Given the description of an element on the screen output the (x, y) to click on. 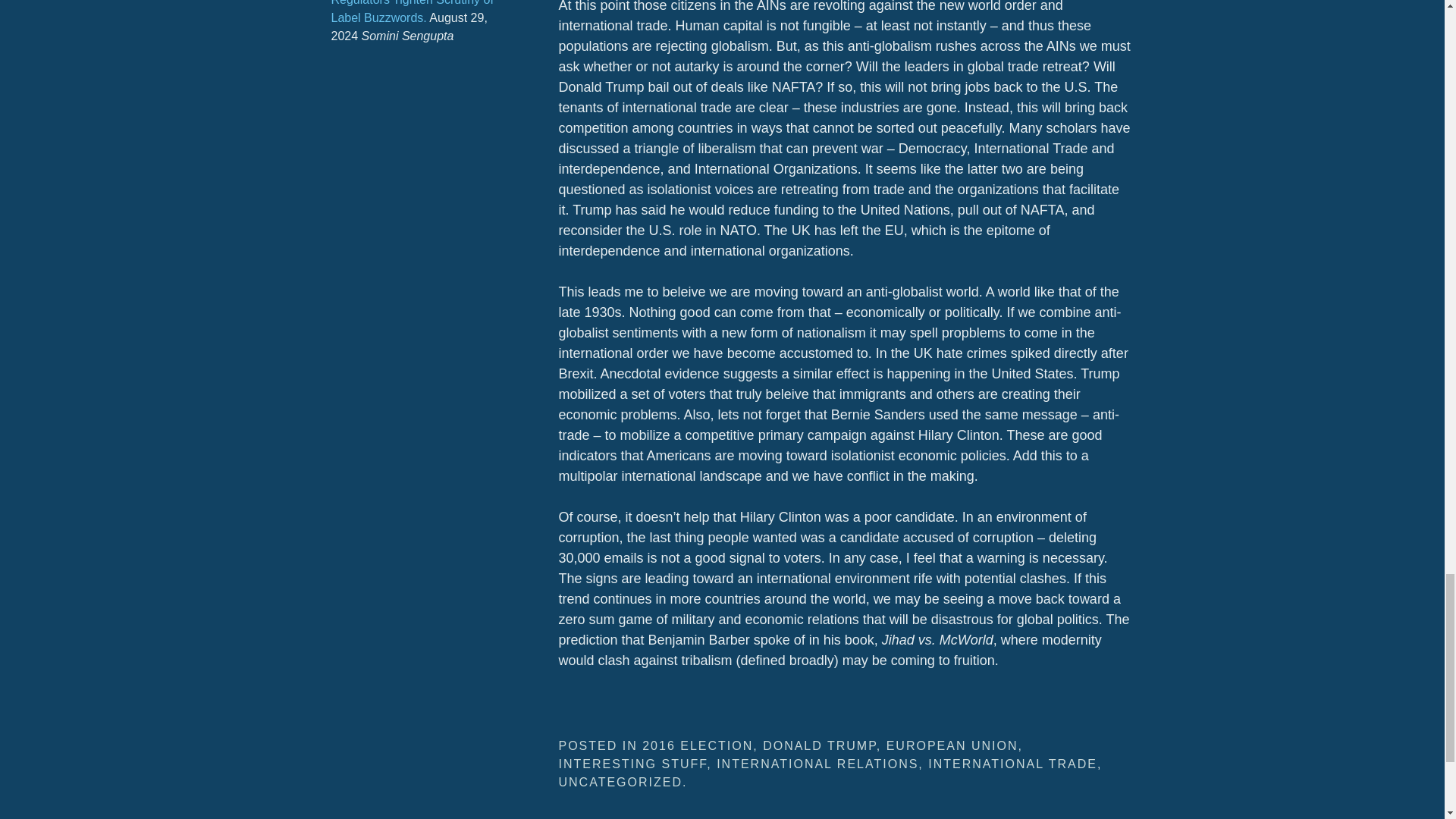
DONALD TRUMP (819, 745)
INTERNATIONAL RELATIONS (817, 763)
UNCATEGORIZED (619, 781)
2016 ELECTION (697, 745)
INTERNATIONAL TRADE (1012, 763)
EUROPEAN UNION (951, 745)
INTERESTING STUFF (631, 763)
